Given the description of an element on the screen output the (x, y) to click on. 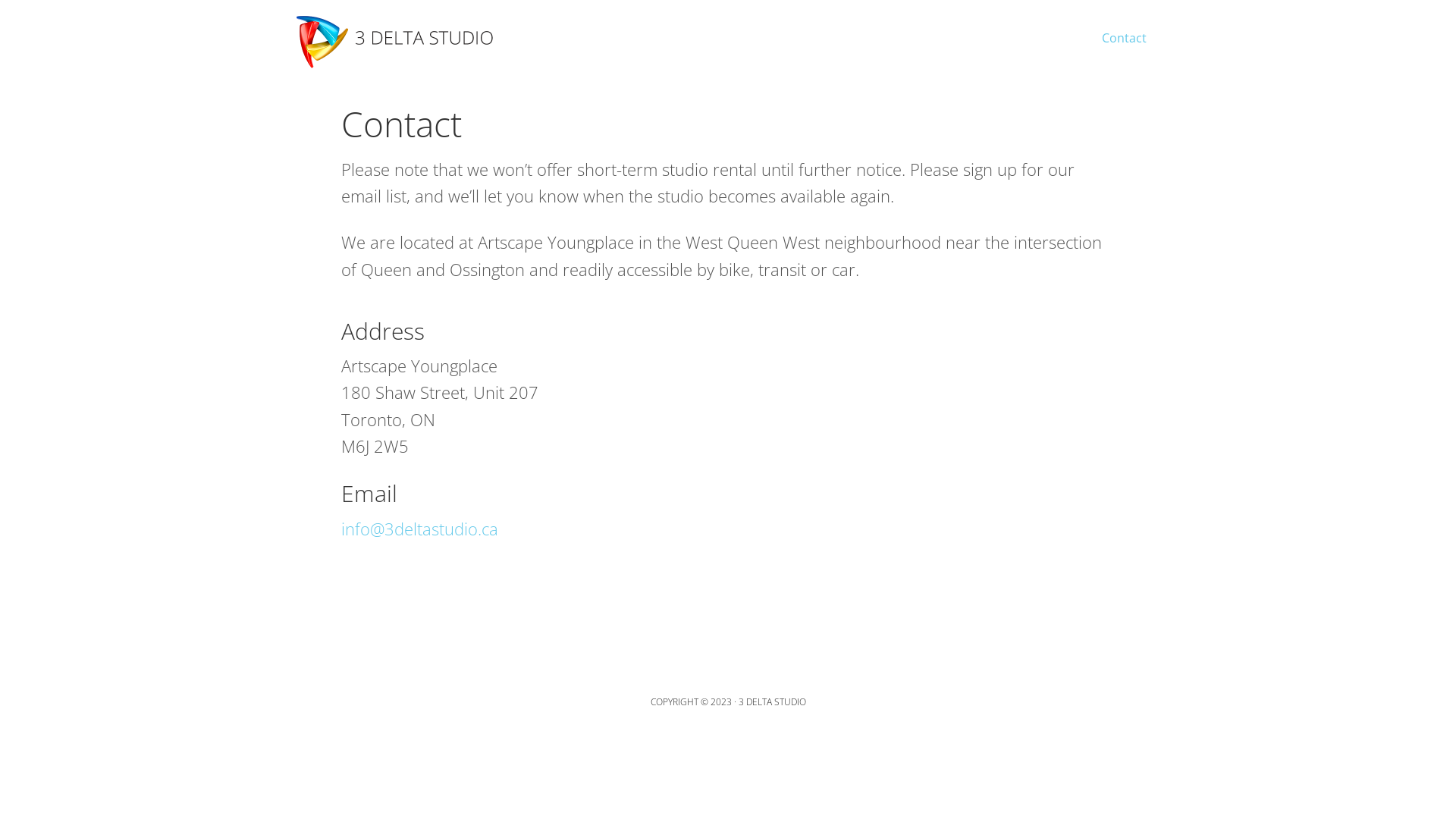
3 Delta Studio Element type: text (393, 37)
info@3deltastudio.ca Element type: text (419, 528)
Contact Element type: text (1124, 29)
